Given the description of an element on the screen output the (x, y) to click on. 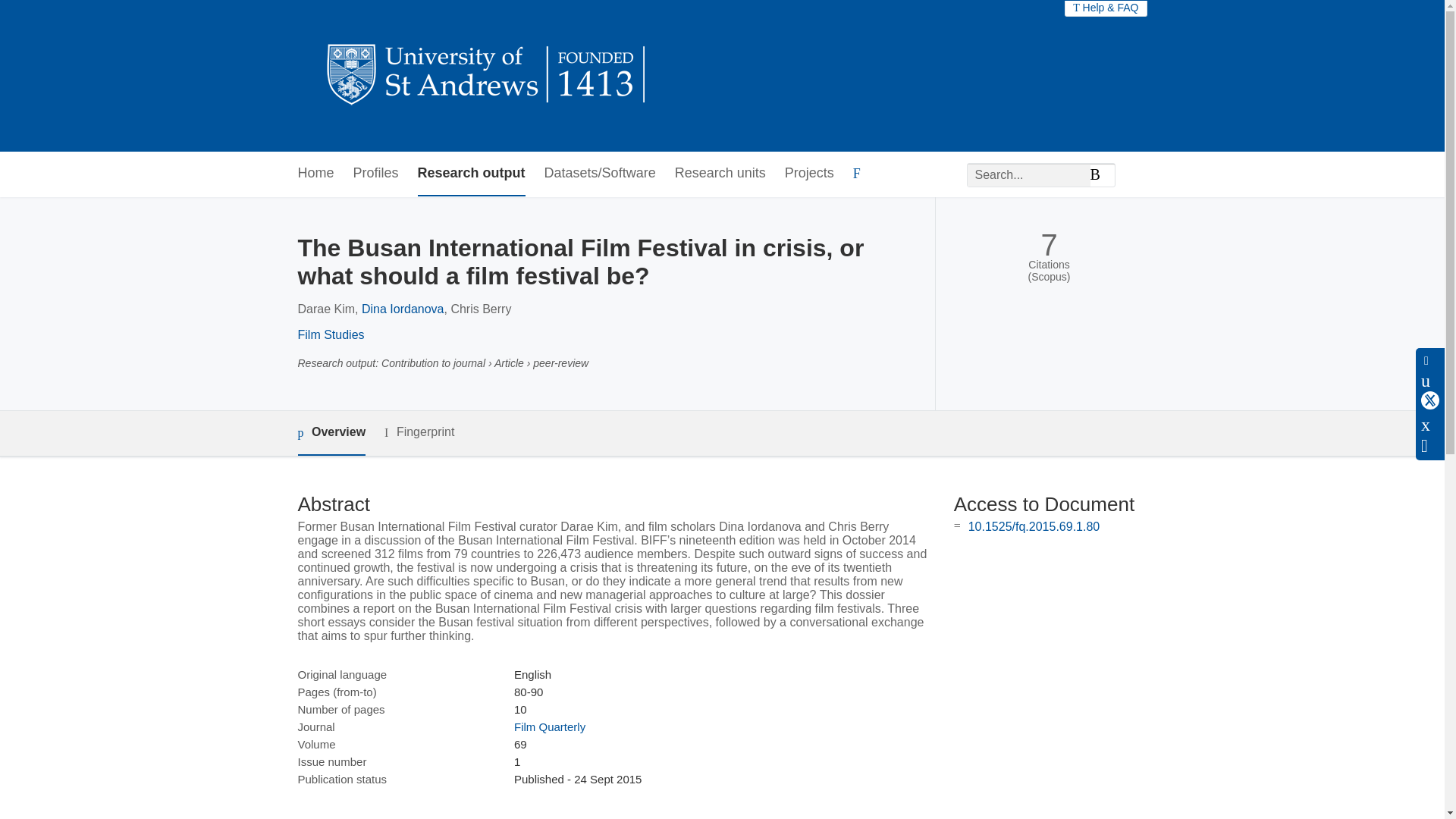
Research output (471, 173)
Overview (331, 433)
Dina Iordanova (402, 308)
University of St Andrews Research Portal Home (487, 75)
Fingerprint (419, 432)
Film Quarterly (549, 726)
Projects (809, 173)
Research units (720, 173)
Profiles (375, 173)
